Given the description of an element on the screen output the (x, y) to click on. 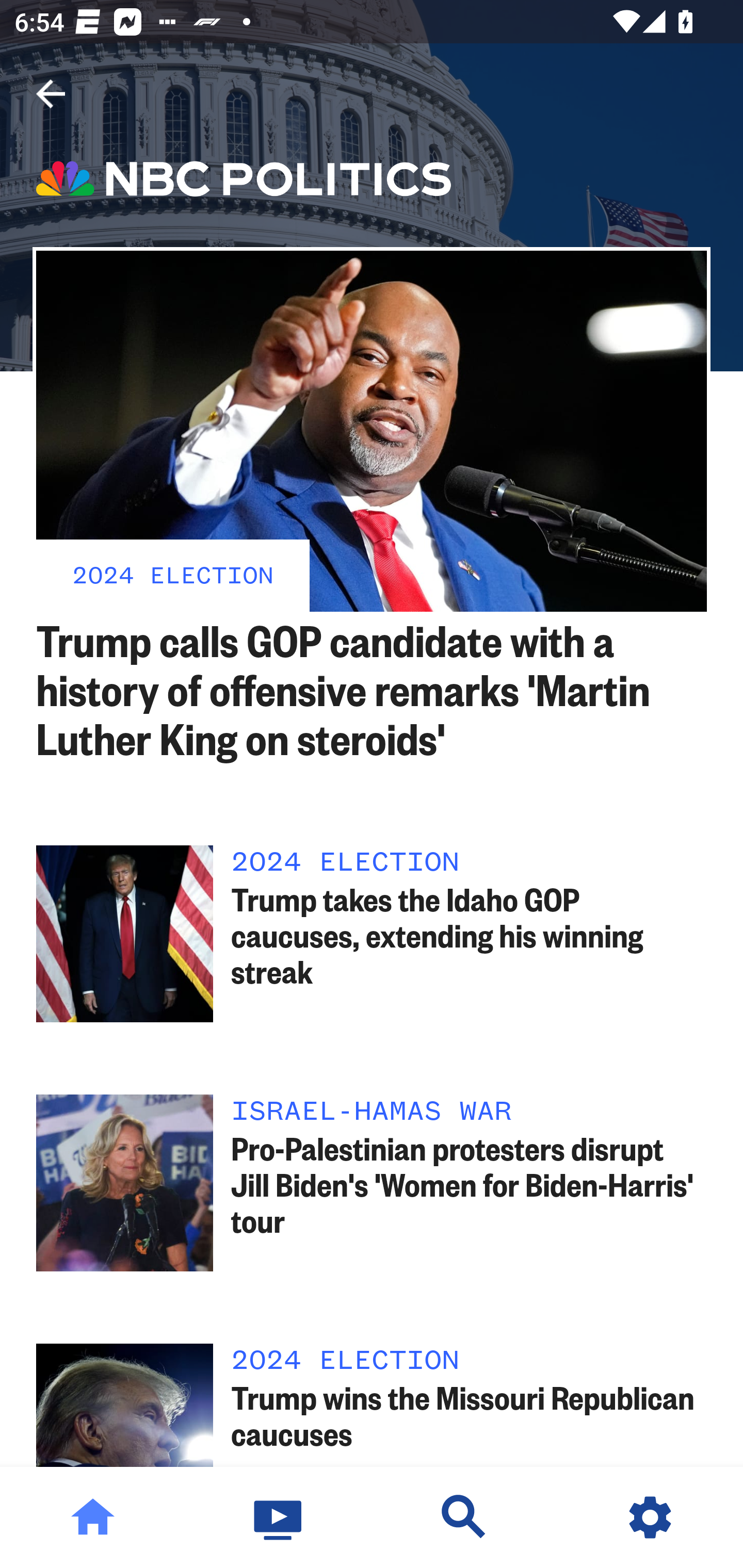
Navigate up (50, 93)
Watch (278, 1517)
Discover (464, 1517)
Settings (650, 1517)
